Given the description of an element on the screen output the (x, y) to click on. 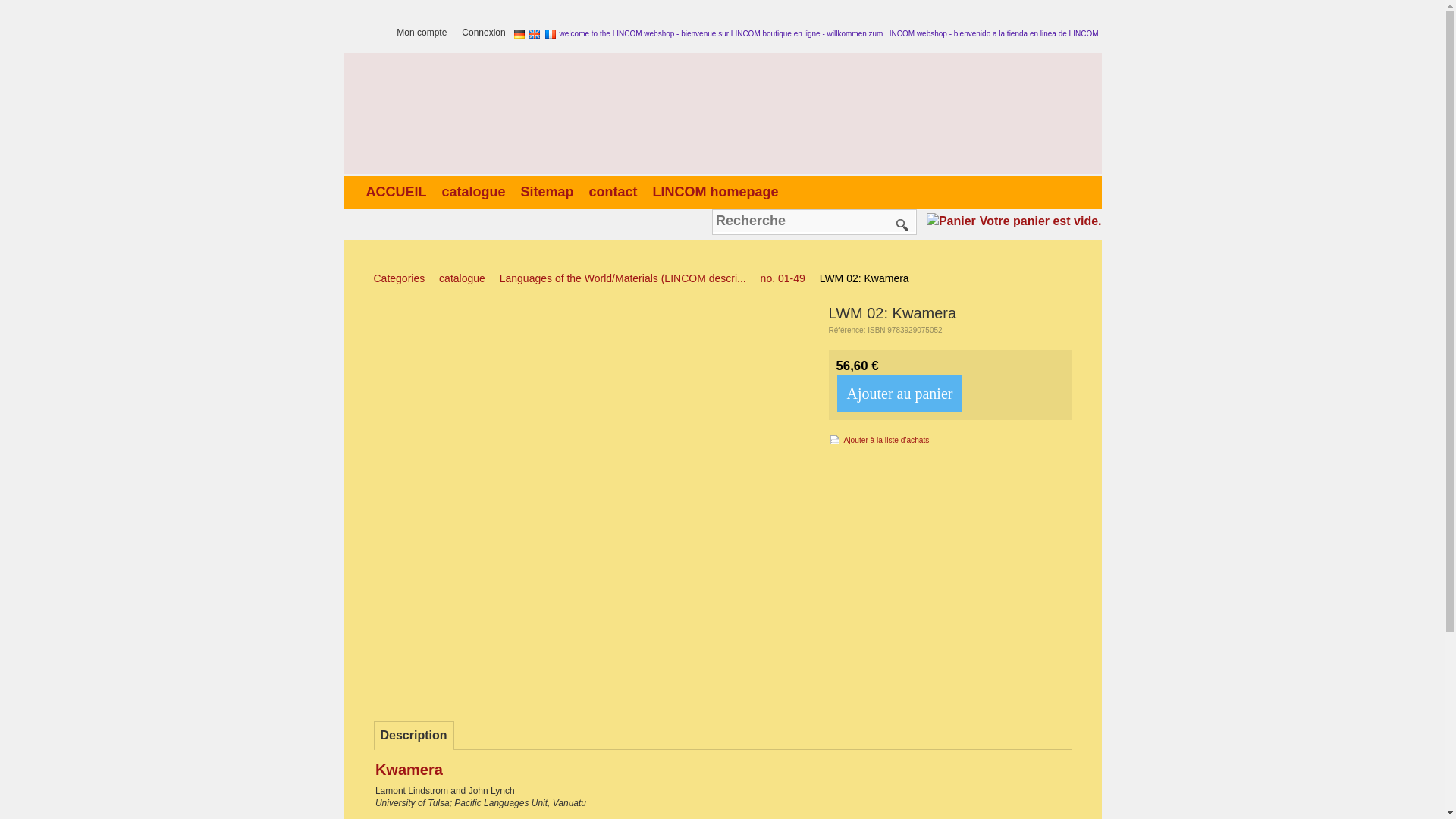
ACCUEIL (399, 190)
catalogue (476, 190)
Mon compte (425, 32)
Lancer la recherche (902, 225)
Connexion (486, 32)
